Given the description of an element on the screen output the (x, y) to click on. 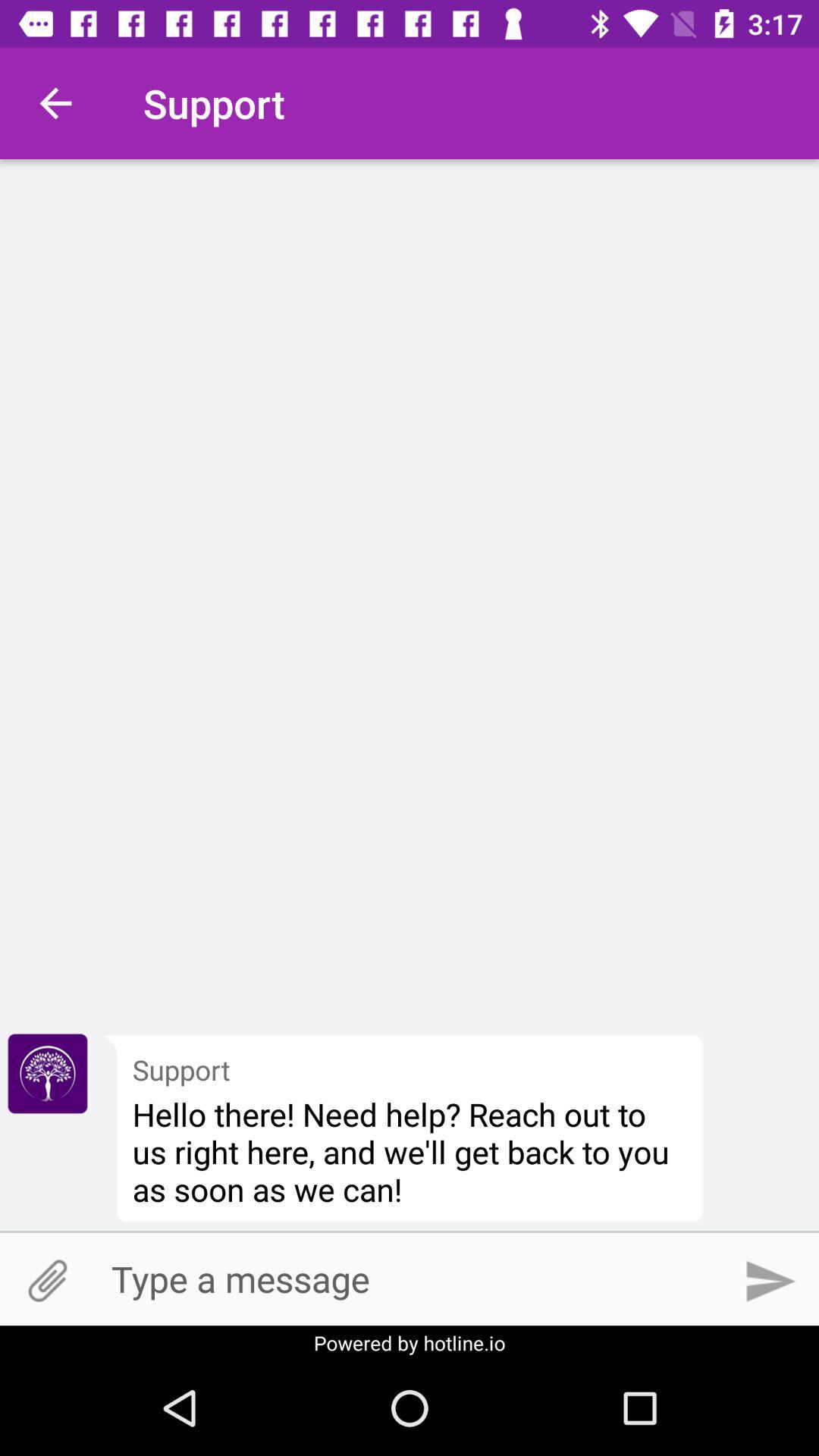
turn off hello there need (409, 1151)
